Given the description of an element on the screen output the (x, y) to click on. 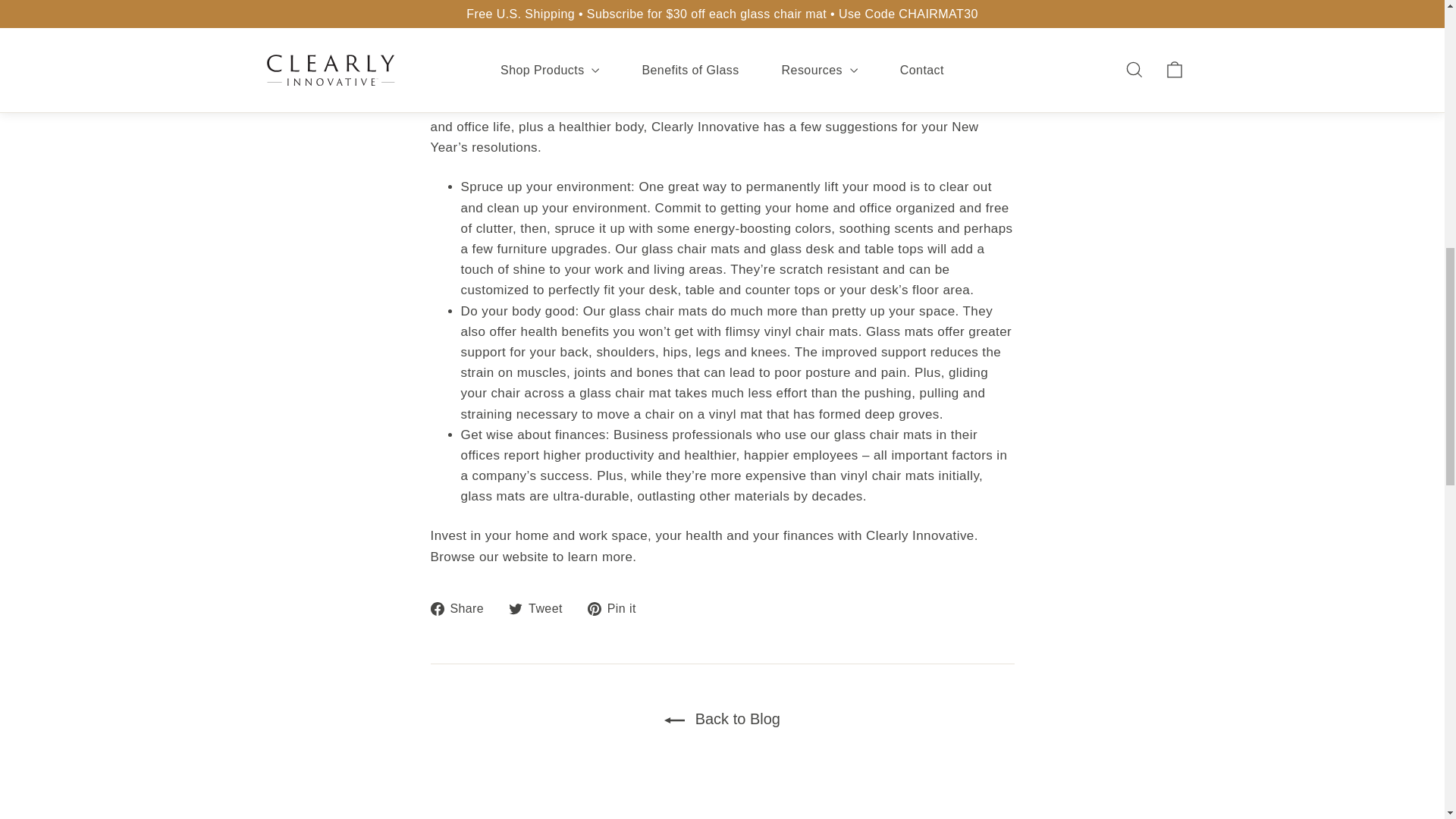
Pin on Pinterest (617, 608)
Tweet on Twitter (540, 608)
Share on Facebook (463, 608)
